Given the description of an element on the screen output the (x, y) to click on. 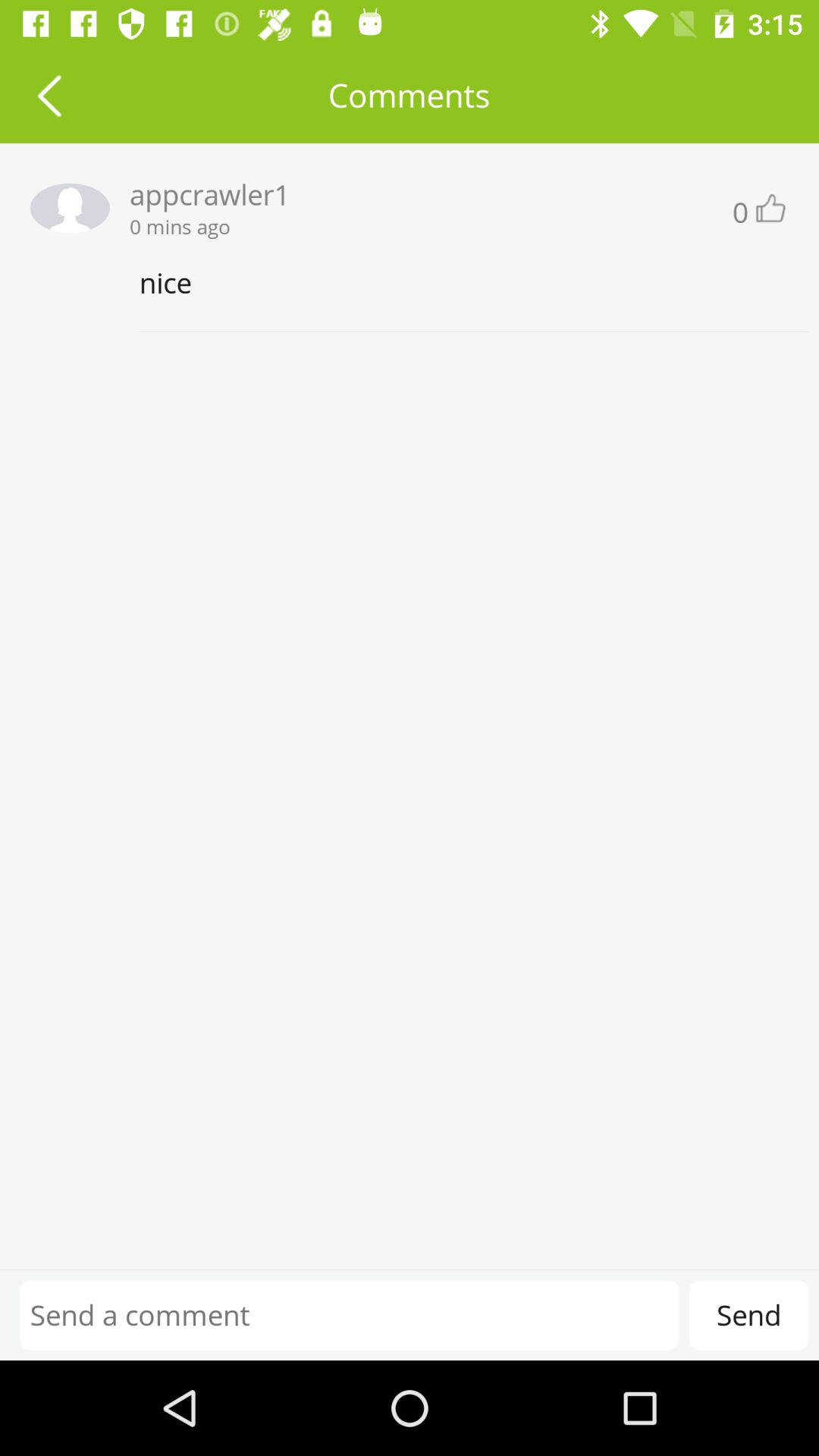
type in commet (349, 1315)
